Given the description of an element on the screen output the (x, y) to click on. 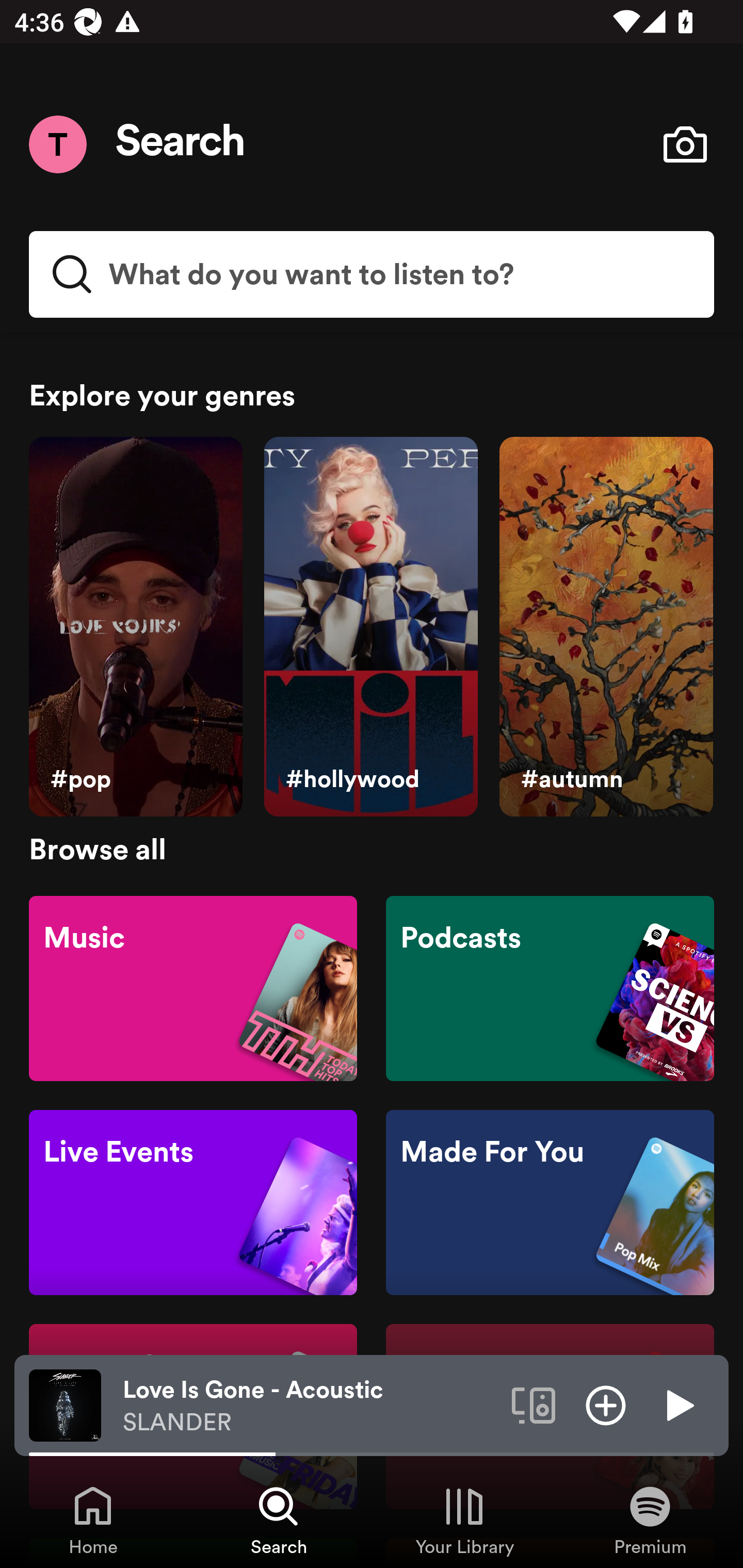
Menu (57, 144)
Open camera (685, 145)
Search (180, 144)
#pop (135, 626)
#hollywood (370, 626)
#autumn (606, 626)
Music (192, 987)
Podcasts (549, 987)
Live Events (192, 1202)
Made For You (549, 1202)
Love Is Gone - Acoustic SLANDER (309, 1405)
The cover art of the currently playing track (64, 1404)
Connect to a device. Opens the devices menu (533, 1404)
Add item (605, 1404)
Play (677, 1404)
Home, Tab 1 of 4 Home Home (92, 1519)
Search, Tab 2 of 4 Search Search (278, 1519)
Your Library, Tab 3 of 4 Your Library Your Library (464, 1519)
Premium, Tab 4 of 4 Premium Premium (650, 1519)
